Given the description of an element on the screen output the (x, y) to click on. 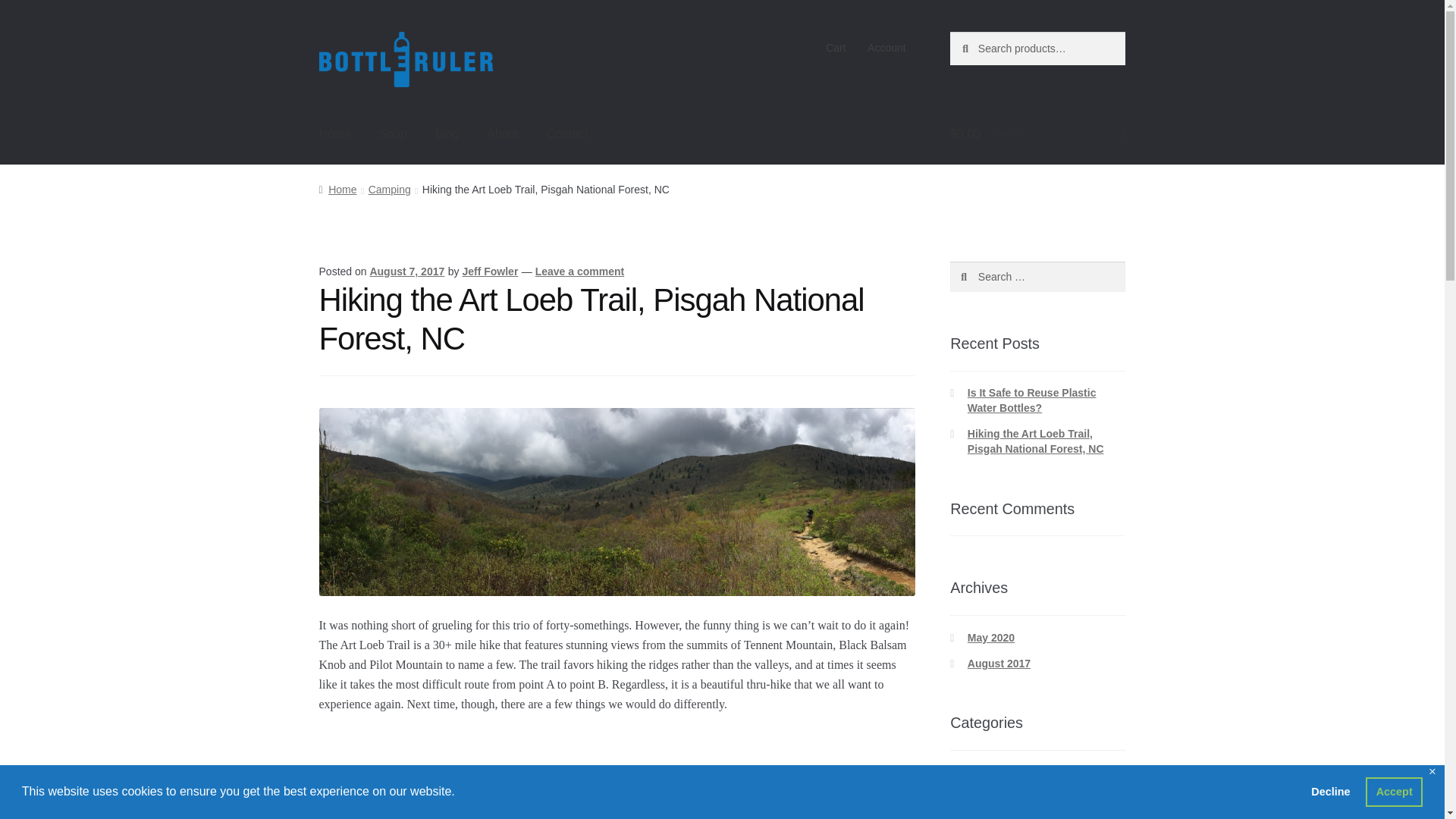
May 2020 (991, 637)
View your shopping cart (1037, 133)
Leave a comment (579, 271)
August 7, 2017 (406, 271)
Decline (1330, 791)
Home (337, 189)
Camping (990, 798)
Contact (566, 133)
Cart (836, 47)
Camping (389, 189)
Jeff Fowler (489, 271)
